Given the description of an element on the screen output the (x, y) to click on. 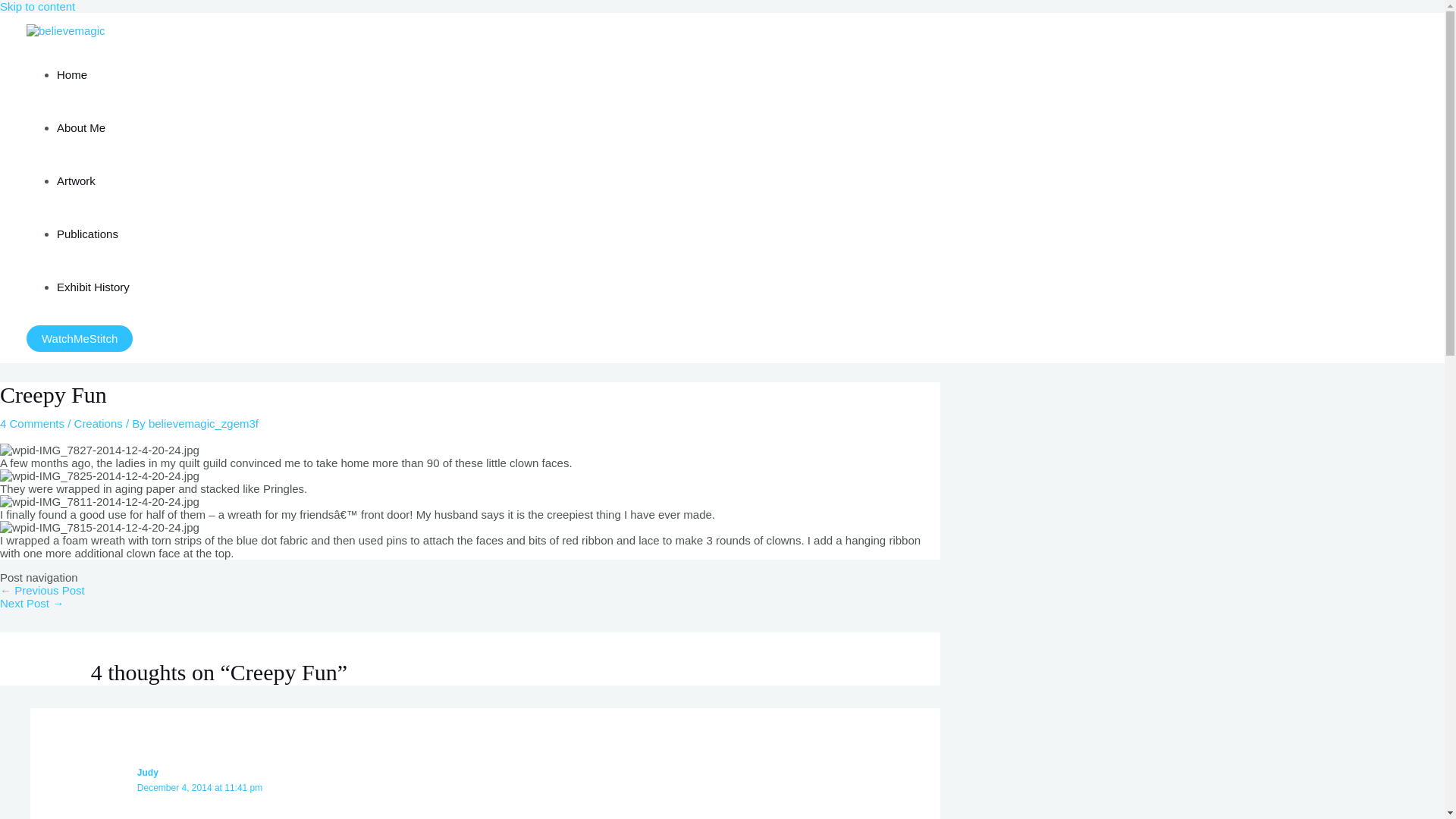
Creations (98, 422)
Artwork (76, 180)
Publications (86, 233)
December 4, 2014 at 11:41 pm (199, 787)
Skip to content (37, 6)
WatchMeStitch (79, 338)
Home (71, 74)
Exhibit History (92, 286)
Silly Fun (42, 590)
Judy (147, 772)
